Given the description of an element on the screen output the (x, y) to click on. 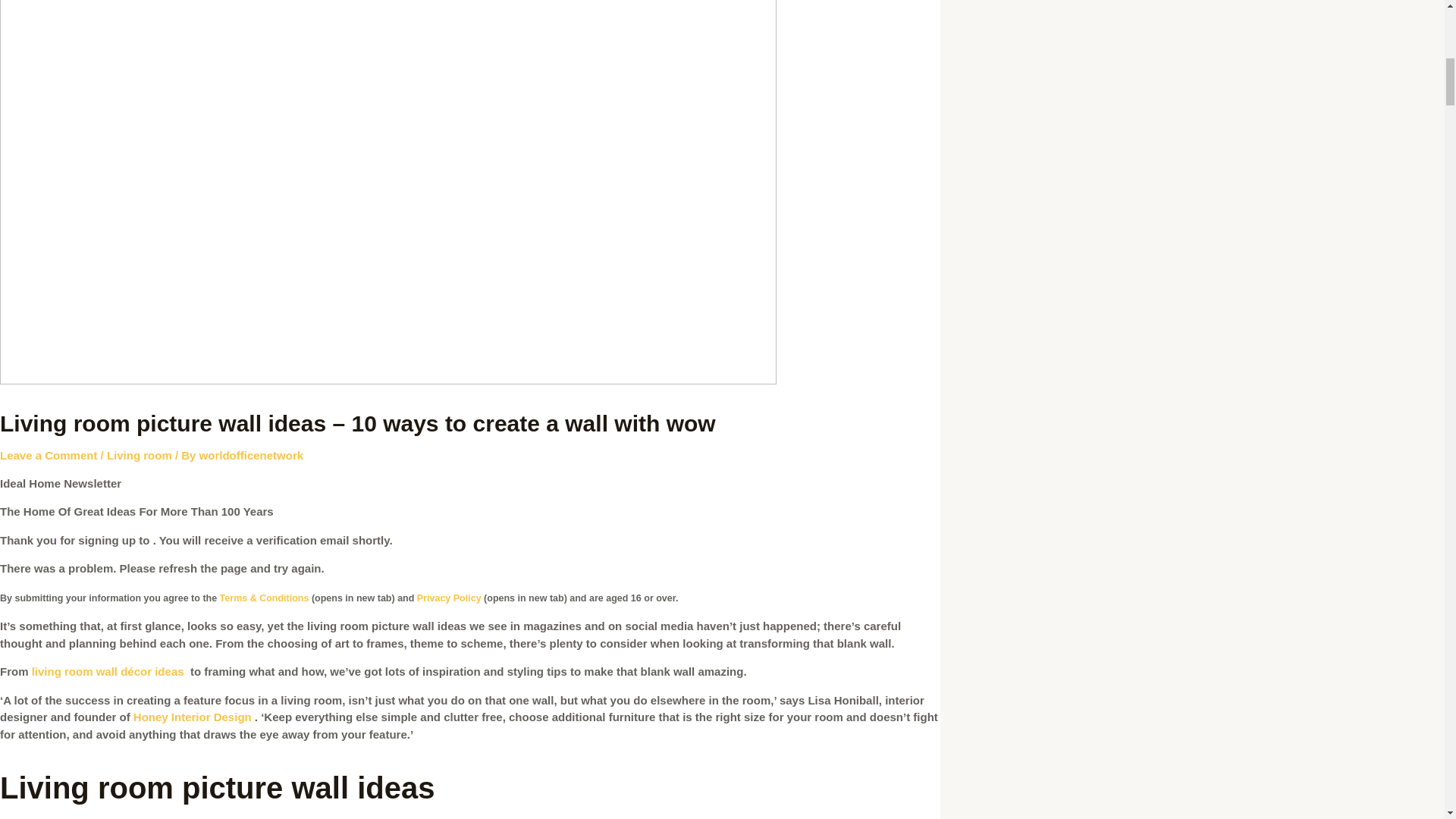
Living room (138, 454)
Leave a Comment (48, 454)
Honey Interior Design (192, 716)
worldofficenetwork (251, 454)
View all posts by worldofficenetwork (251, 454)
Privacy Policy (448, 597)
